Given the description of an element on the screen output the (x, y) to click on. 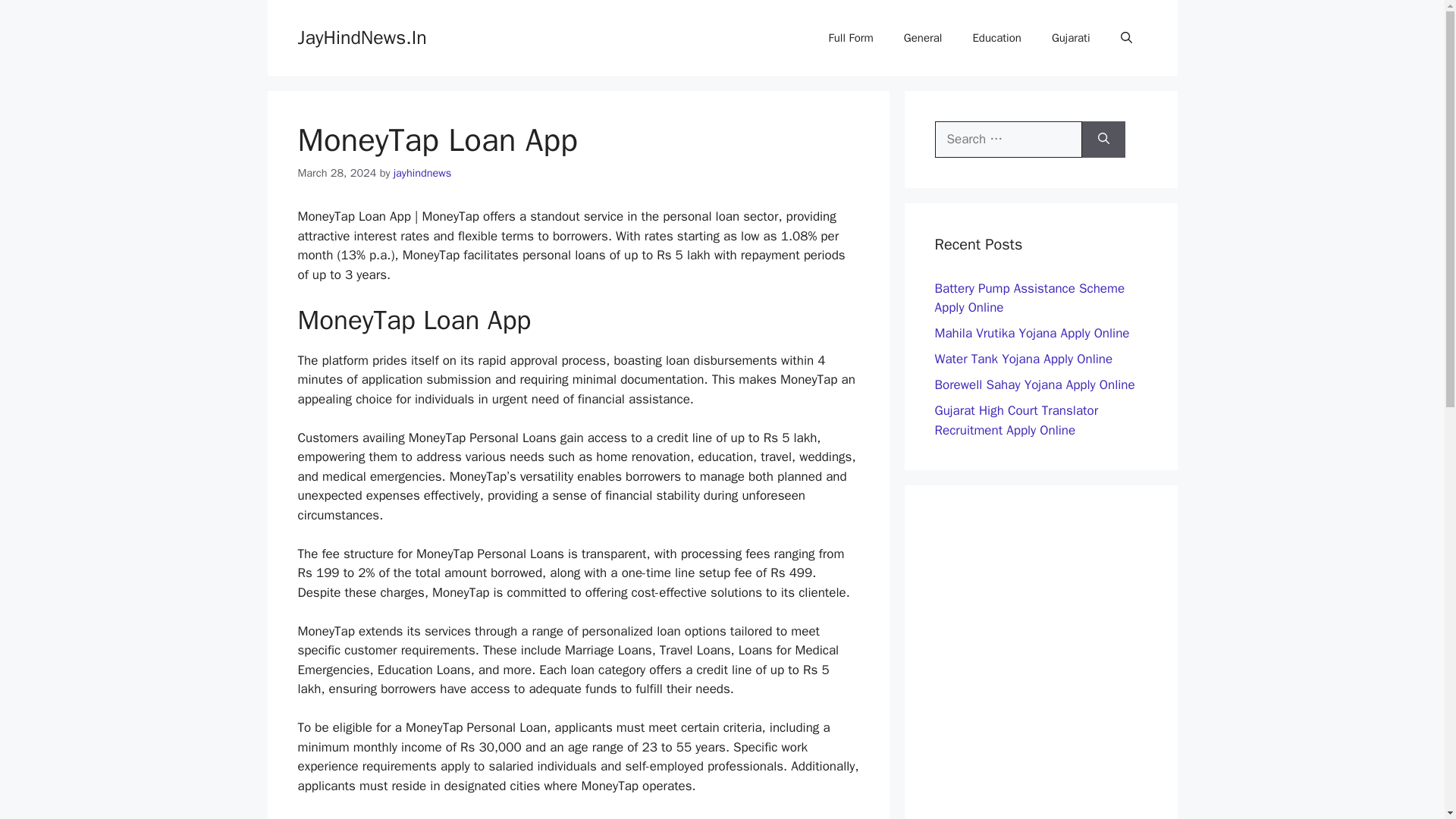
Battery Pump Assistance Scheme Apply Online (1029, 298)
Mahila Vrutika Yojana Apply Online (1031, 333)
JayHindNews.In (361, 37)
Full Form (850, 37)
View all posts by jayhindnews (422, 172)
Gujarat High Court Translator Recruitment Apply Online (1015, 420)
Borewell Sahay Yojana Apply Online (1034, 384)
Gujarati (1070, 37)
jayhindnews (422, 172)
Education (995, 37)
